Given the description of an element on the screen output the (x, y) to click on. 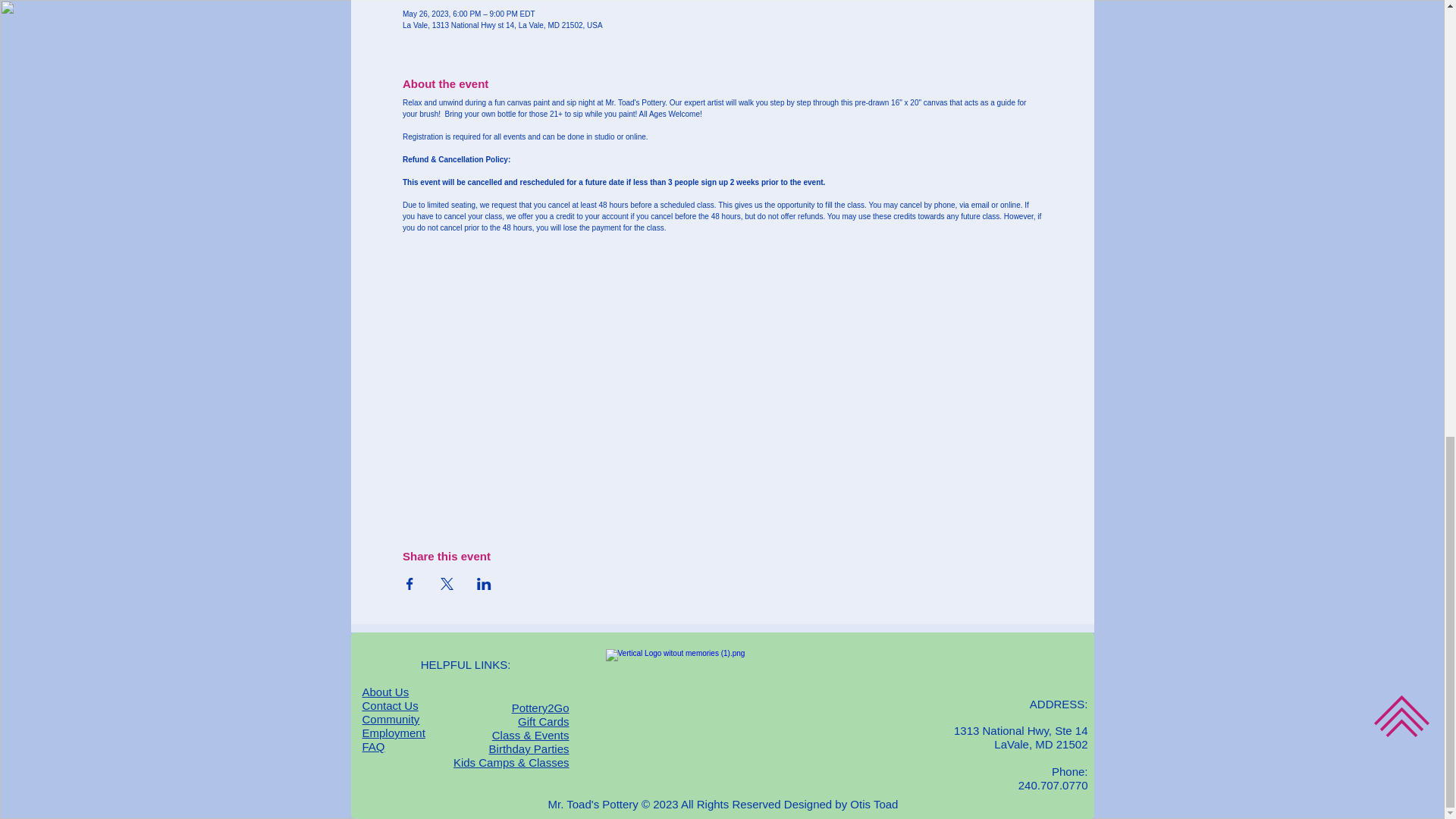
Community (391, 719)
Birthday Parties (529, 748)
Contact Us (390, 705)
Employment (393, 733)
Gift Cards (543, 721)
About Us (385, 692)
FAQ (373, 746)
Pottery2Go (540, 707)
